Given the description of an element on the screen output the (x, y) to click on. 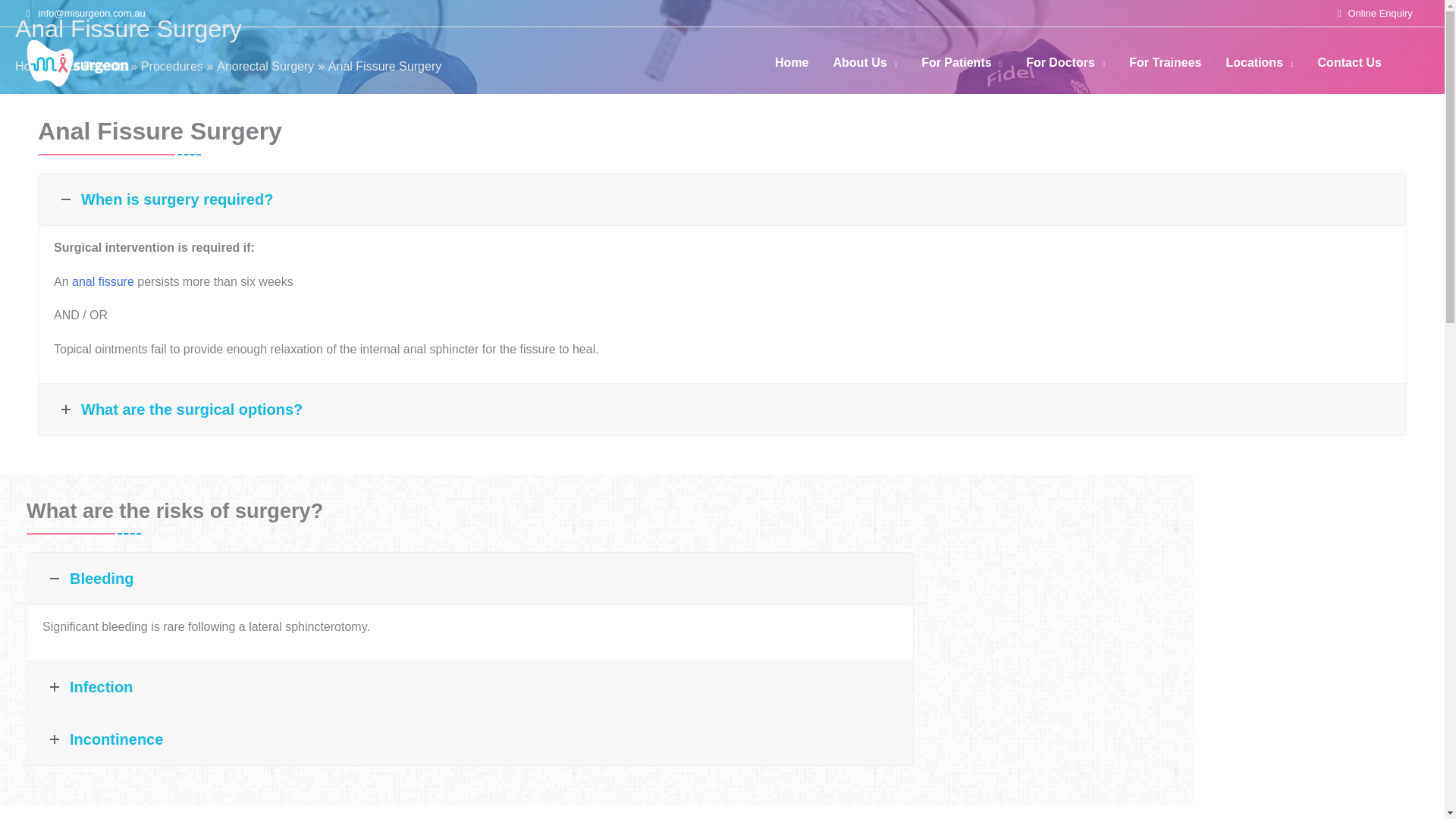
For Patients (960, 62)
About Us (865, 62)
Home (791, 62)
Online Enquiry (1380, 12)
